Given the description of an element on the screen output the (x, y) to click on. 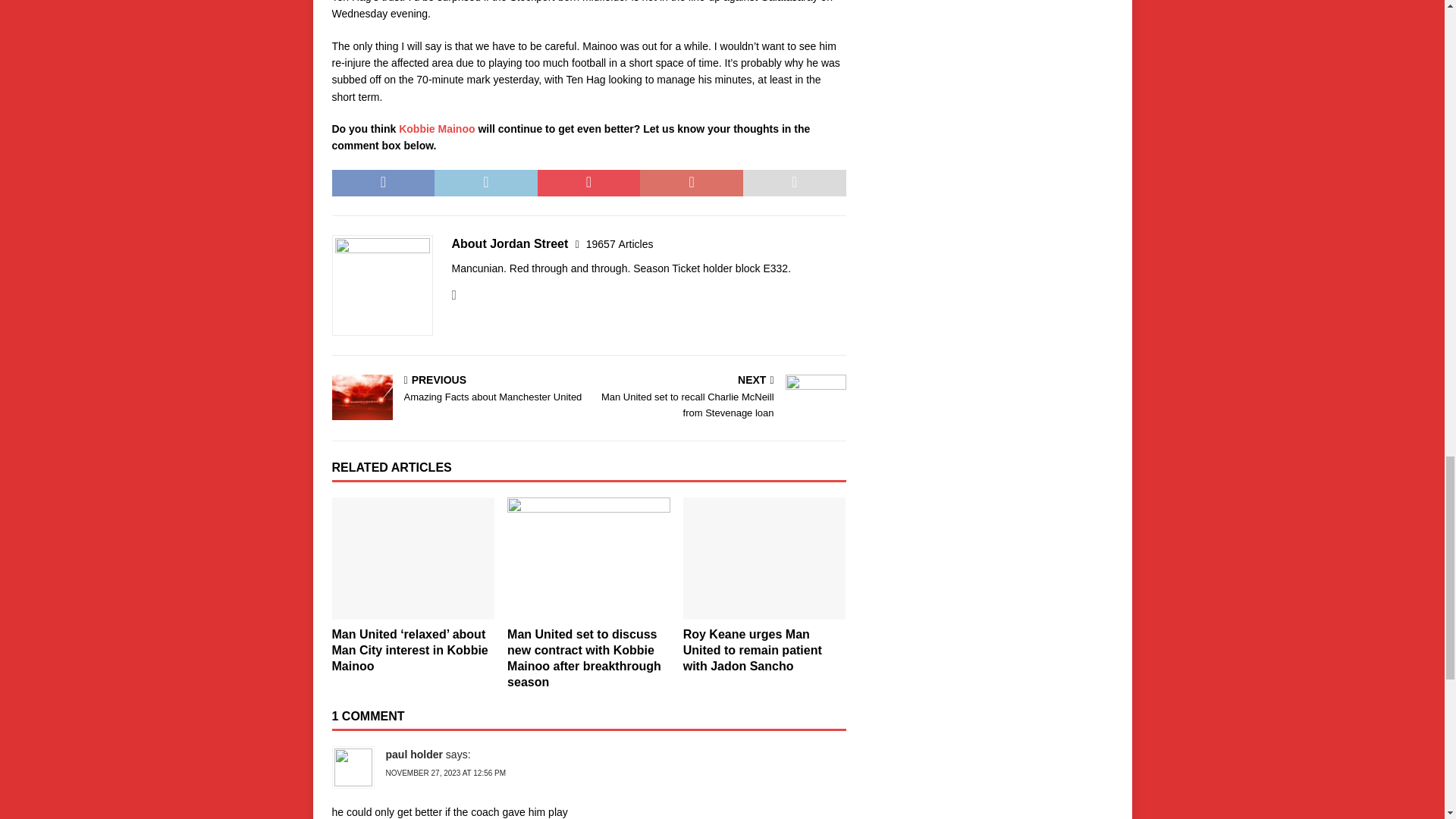
Kobbie Mainoo (436, 128)
19657 Articles (619, 244)
